Given the description of an element on the screen output the (x, y) to click on. 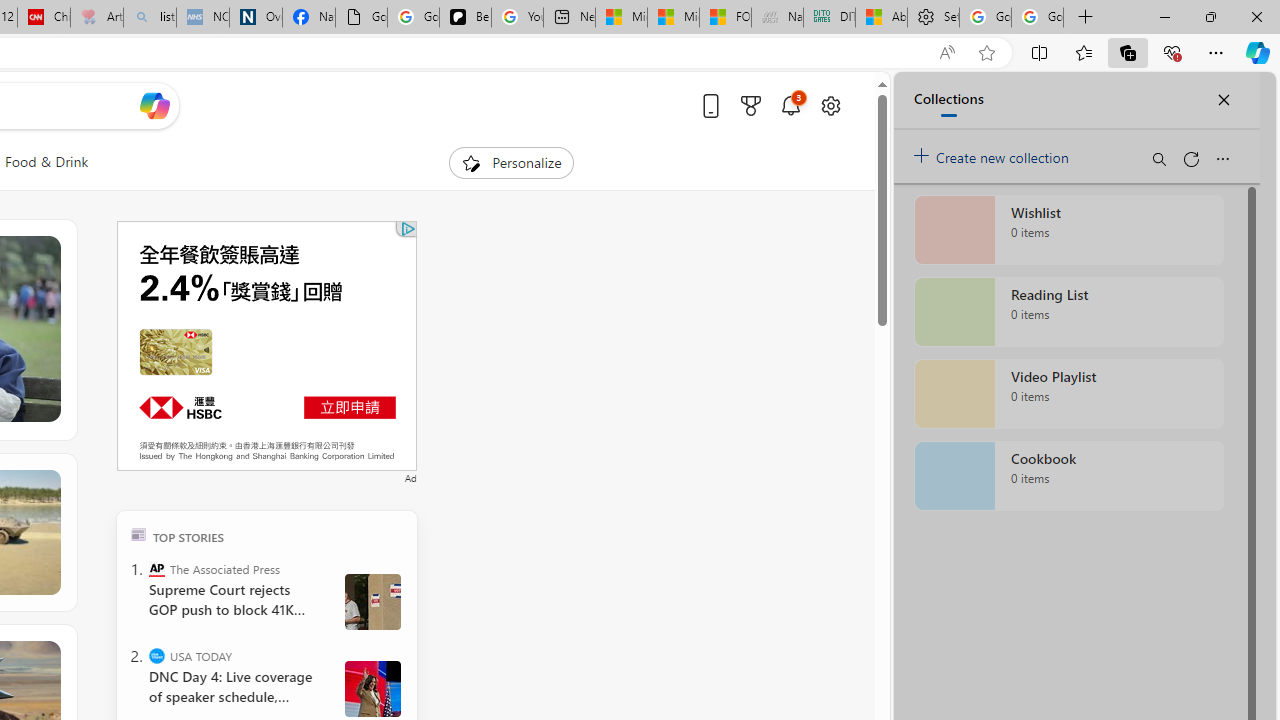
Google Analytics Opt-out Browser Add-on Download Page (360, 17)
